Given the description of an element on the screen output the (x, y) to click on. 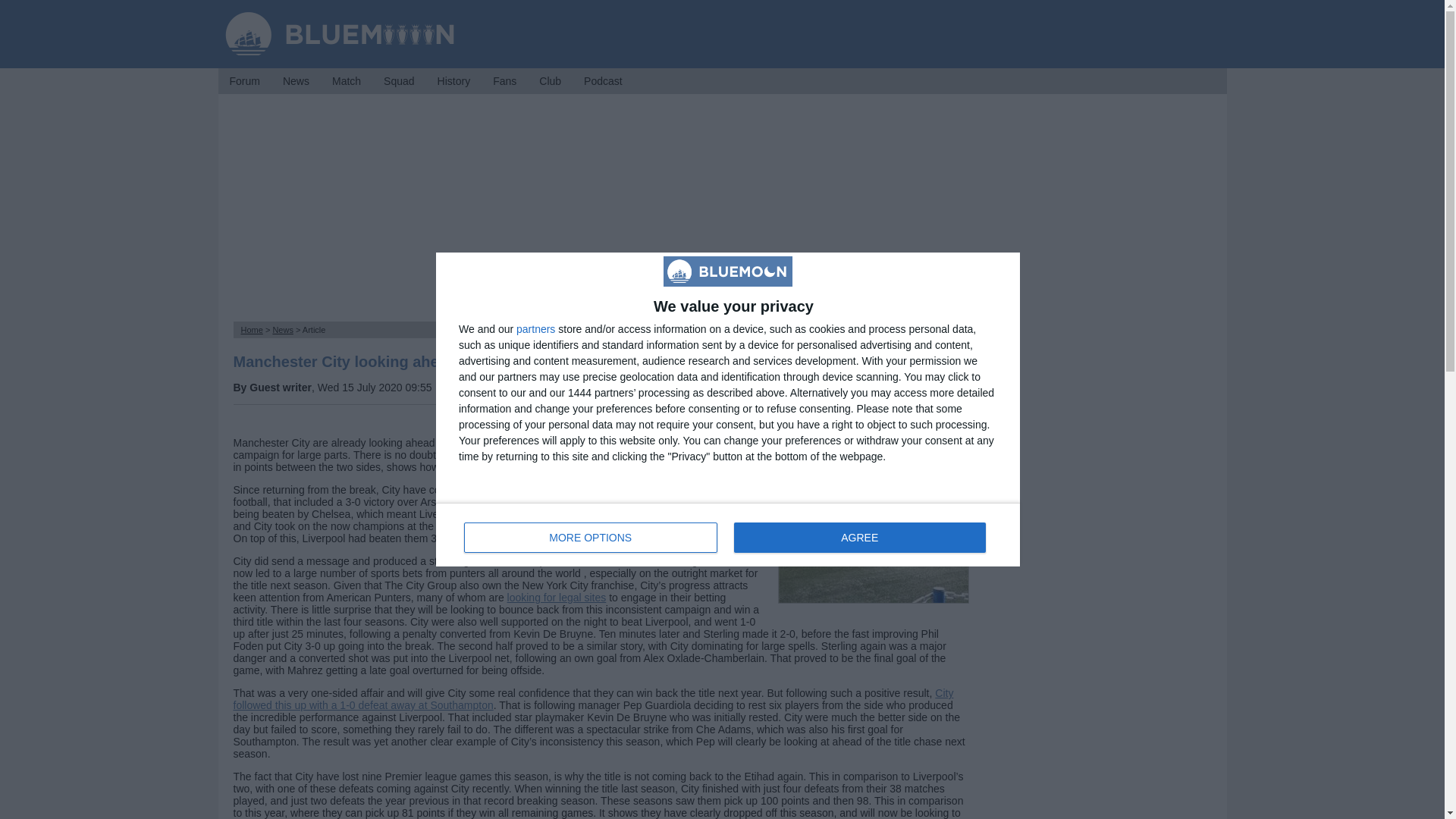
Squad (398, 80)
Match (727, 534)
News (346, 80)
MORE OPTIONS (295, 80)
News (590, 537)
Forum (283, 329)
Home (243, 80)
partners (252, 329)
AGREE (535, 328)
